Given the description of an element on the screen output the (x, y) to click on. 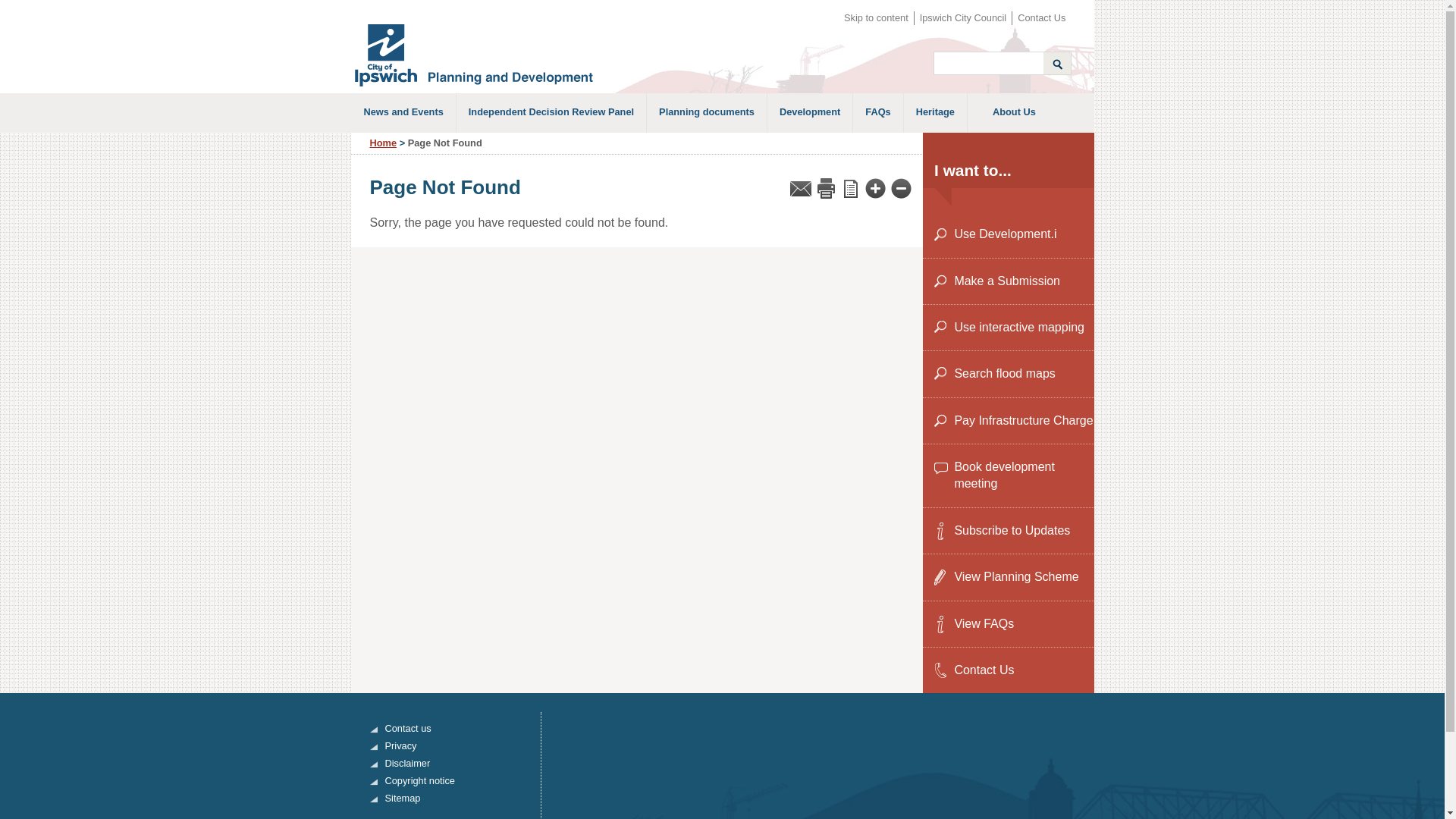
Decrease font size Element type: text (899, 187)
Planning documents Element type: text (706, 112)
Ipswich City Council Element type: text (963, 17)
Make a Submission Element type: text (1012, 281)
Pay Infrastructure Charge Element type: text (1012, 420)
Page Not Found Element type: text (477, 53)
Home Element type: text (383, 142)
Sitemap Element type: text (462, 798)
Contact Us Element type: text (1041, 17)
Copyright notice Element type: text (462, 780)
Print Element type: text (824, 187)
About Us Element type: text (1014, 112)
Search flood maps Element type: text (1012, 373)
News and Events Element type: text (403, 112)
View Planning Scheme Element type: text (1012, 576)
Privacy Element type: text (462, 746)
Subscribe to Updates Element type: text (1012, 530)
Use Development.i Element type: text (1012, 234)
Contact us Element type: text (462, 728)
Use interactive mapping Element type: text (1012, 327)
Skip to content Element type: text (875, 17)
Heritage Element type: text (934, 112)
Book development meeting Element type: text (1012, 475)
Development Element type: text (809, 112)
Disclaimer Element type: text (462, 763)
FAQs Element type: text (877, 112)
Contact Us Element type: text (1012, 670)
Email Element type: text (799, 187)
Independent Decision Review Panel Element type: text (551, 112)
Increase font size Element type: text (874, 187)
Text Element type: text (849, 187)
View FAQs Element type: text (1012, 623)
